Given the description of an element on the screen output the (x, y) to click on. 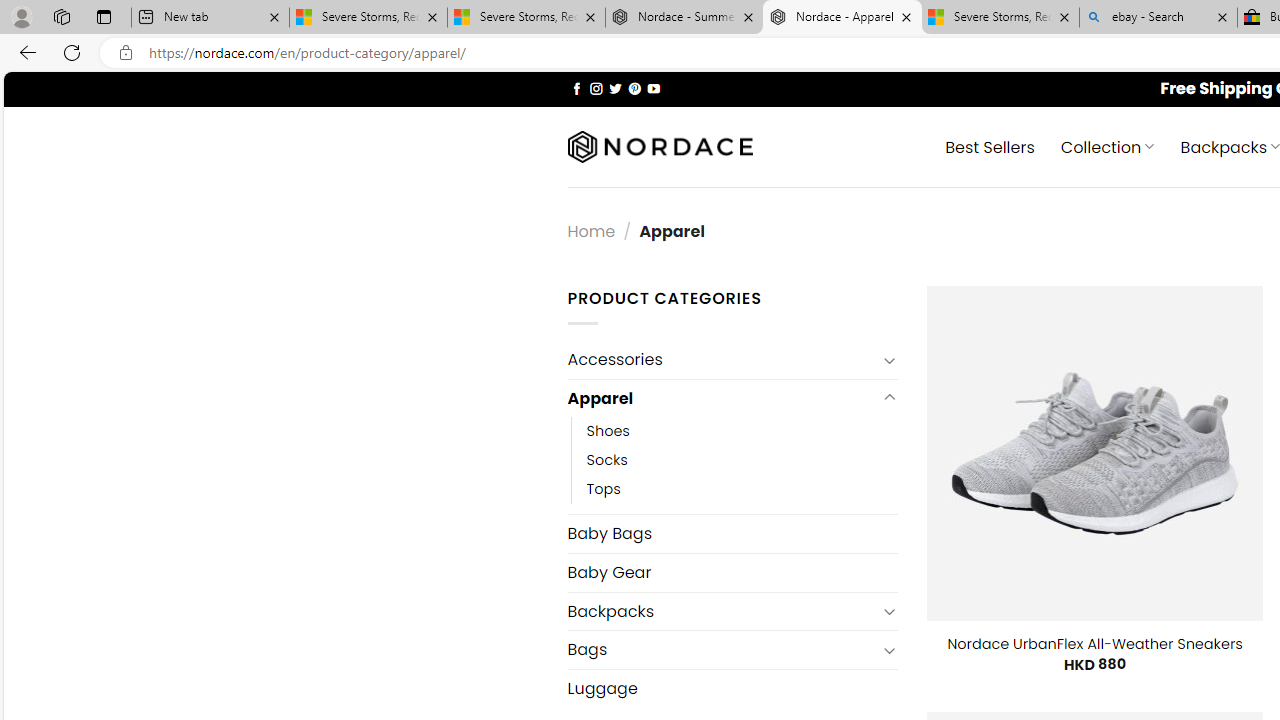
Nordace - Apparel (842, 17)
Bags (721, 649)
